Given the description of an element on the screen output the (x, y) to click on. 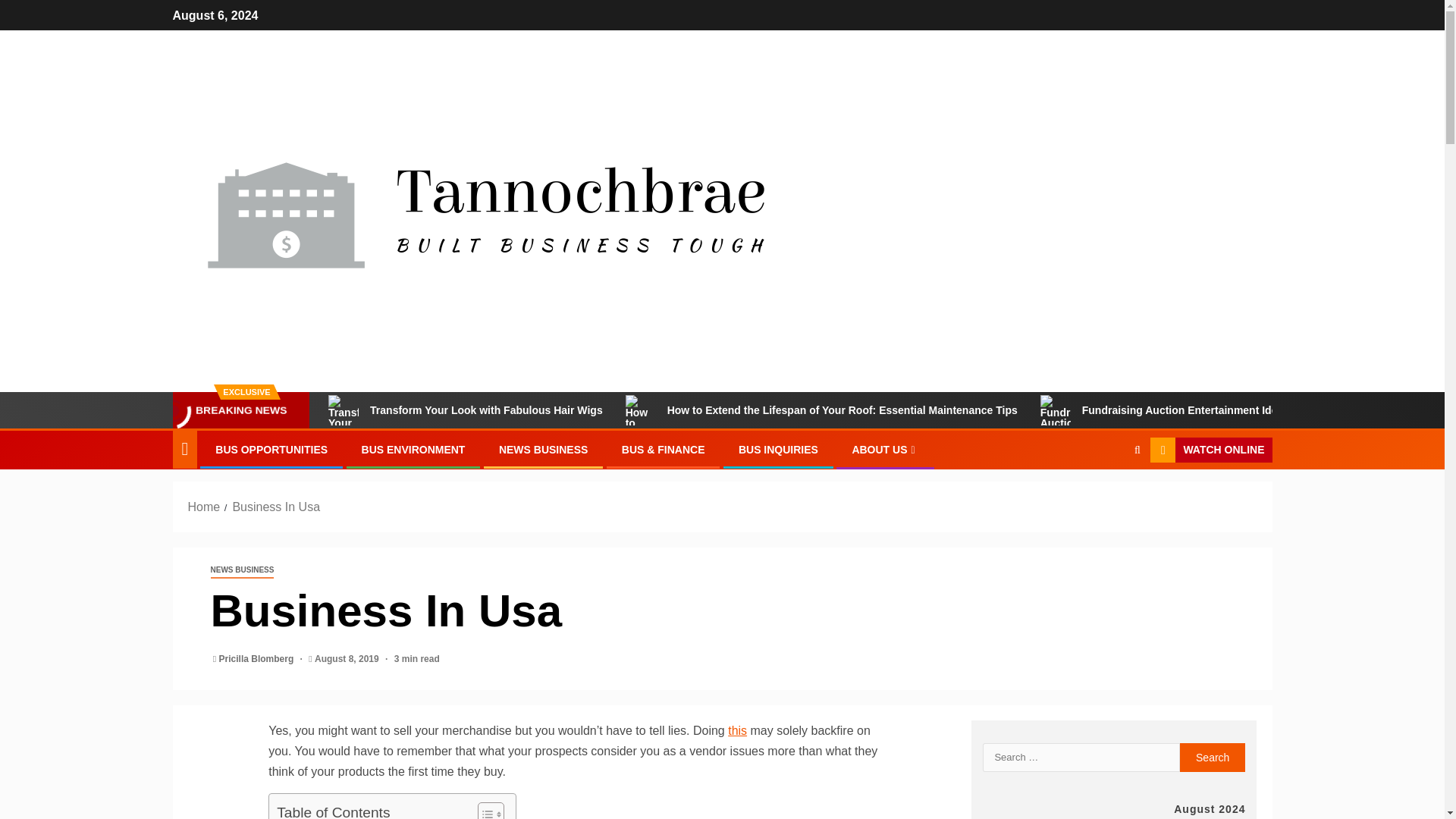
this (737, 730)
NEWS BUSINESS (243, 570)
BUS ENVIRONMENT (413, 449)
NEWS BUSINESS (543, 449)
Search (1212, 757)
Home (204, 506)
Transform Your Look with Fabulous Hair Wigs (465, 409)
BUS OPPORTUNITIES (271, 449)
WATCH ONLINE (1210, 450)
